Given the description of an element on the screen output the (x, y) to click on. 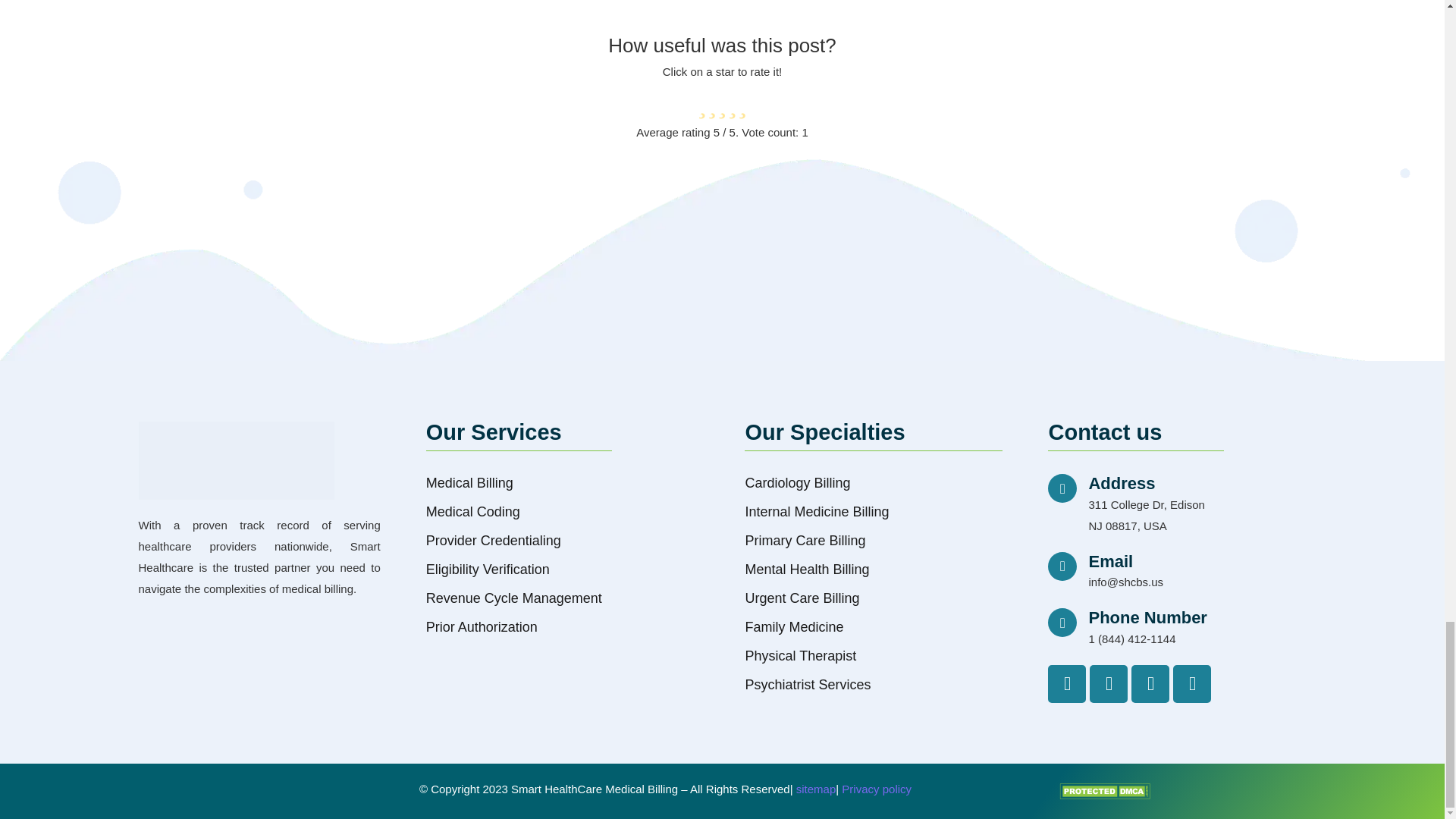
DMCA.com Protection Status (1108, 790)
